Given the description of an element on the screen output the (x, y) to click on. 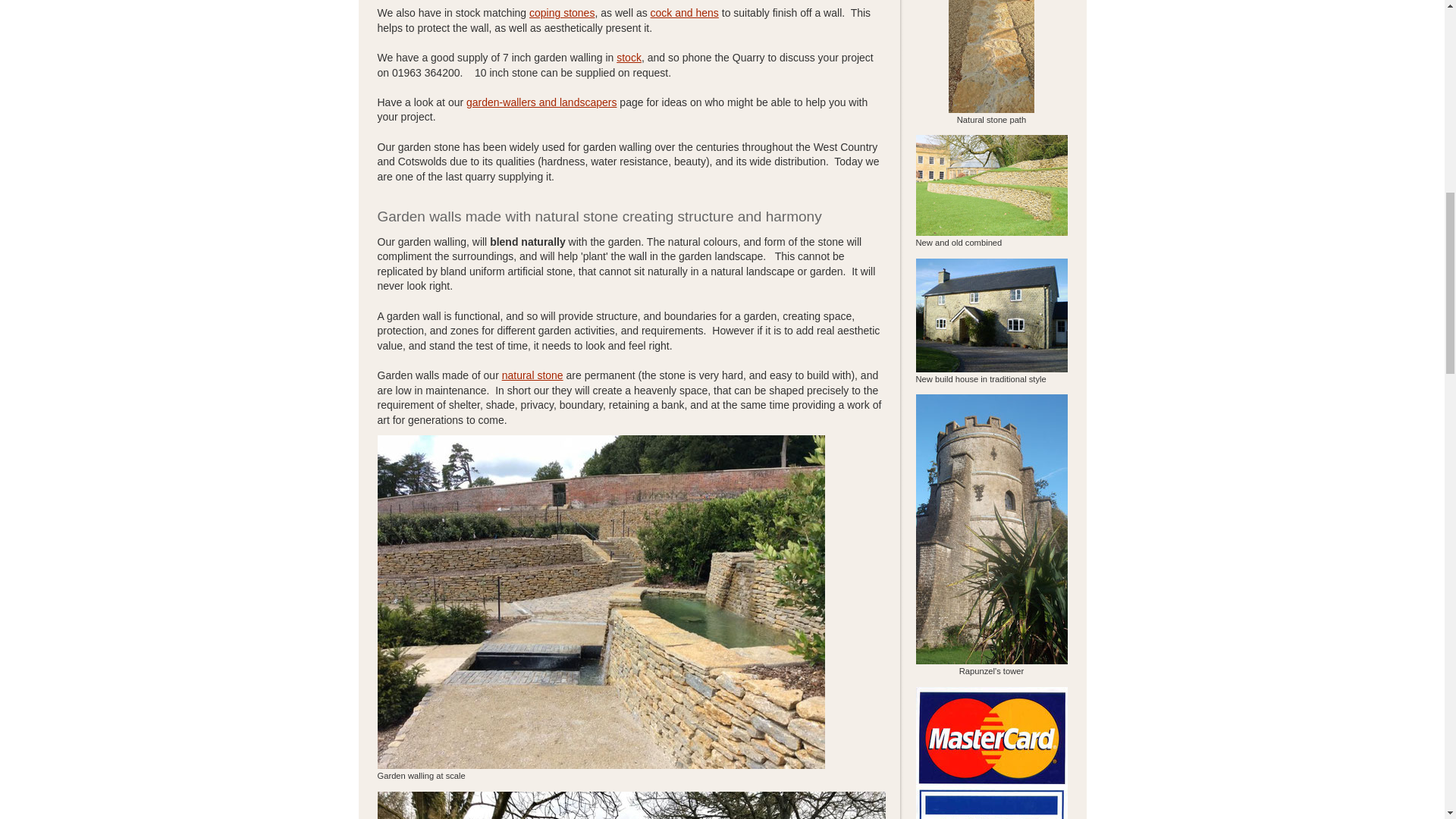
garden-wallers and landscapers (540, 102)
natural stone (532, 375)
Wallers and landscapers (540, 102)
coping stones (561, 12)
stock (628, 57)
Coping stones and Cock and hens (684, 12)
cock and hens (684, 12)
Natural stone (532, 375)
Price-of-garden-walling (628, 57)
Coping stones and Cock and hens (561, 12)
